Given the description of an element on the screen output the (x, y) to click on. 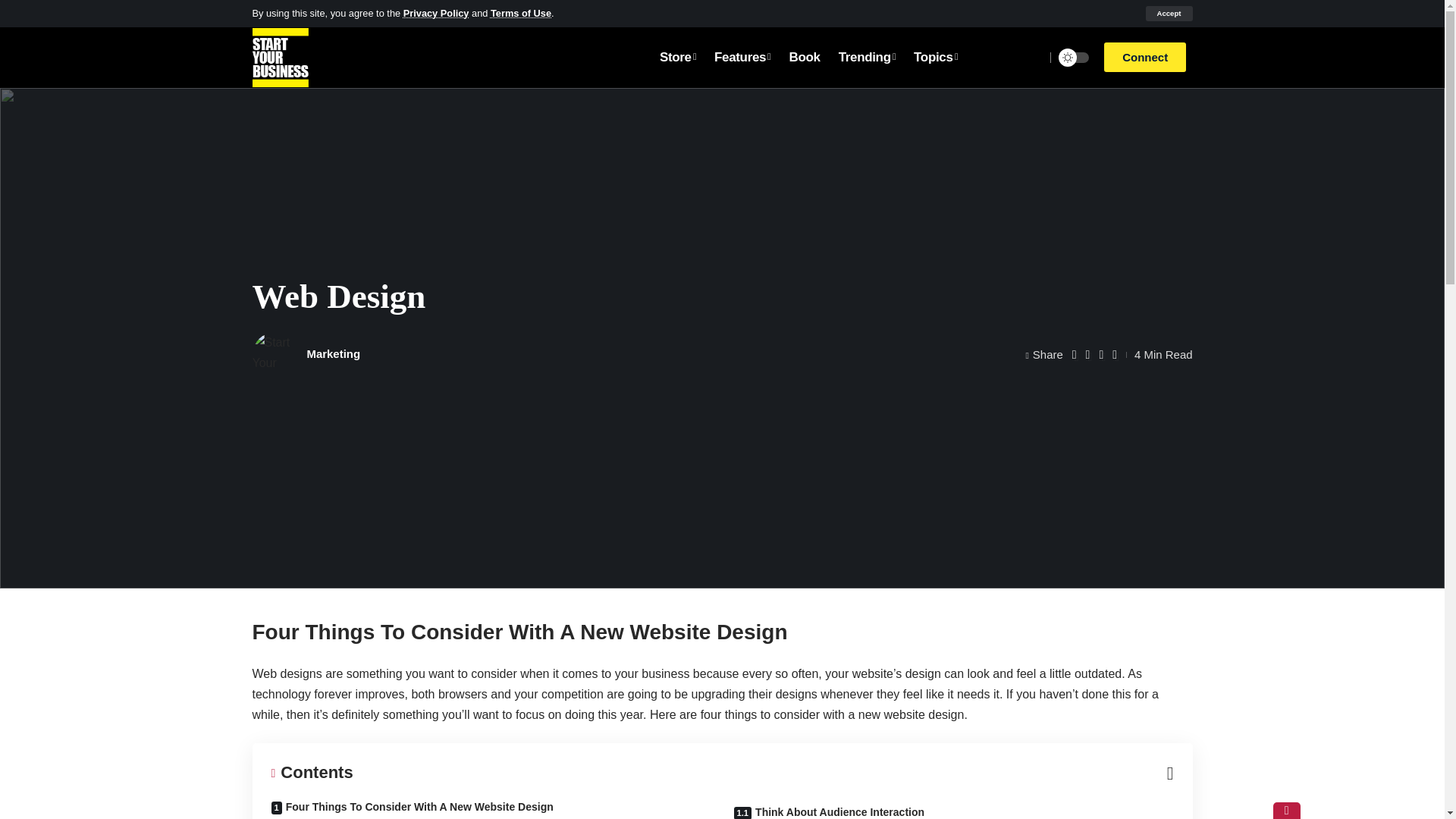
Privacy Policy (435, 12)
Terms of Use (520, 12)
Accept (1168, 13)
Topics (935, 57)
Trending (866, 57)
Features (742, 57)
Store (677, 57)
